Given the description of an element on the screen output the (x, y) to click on. 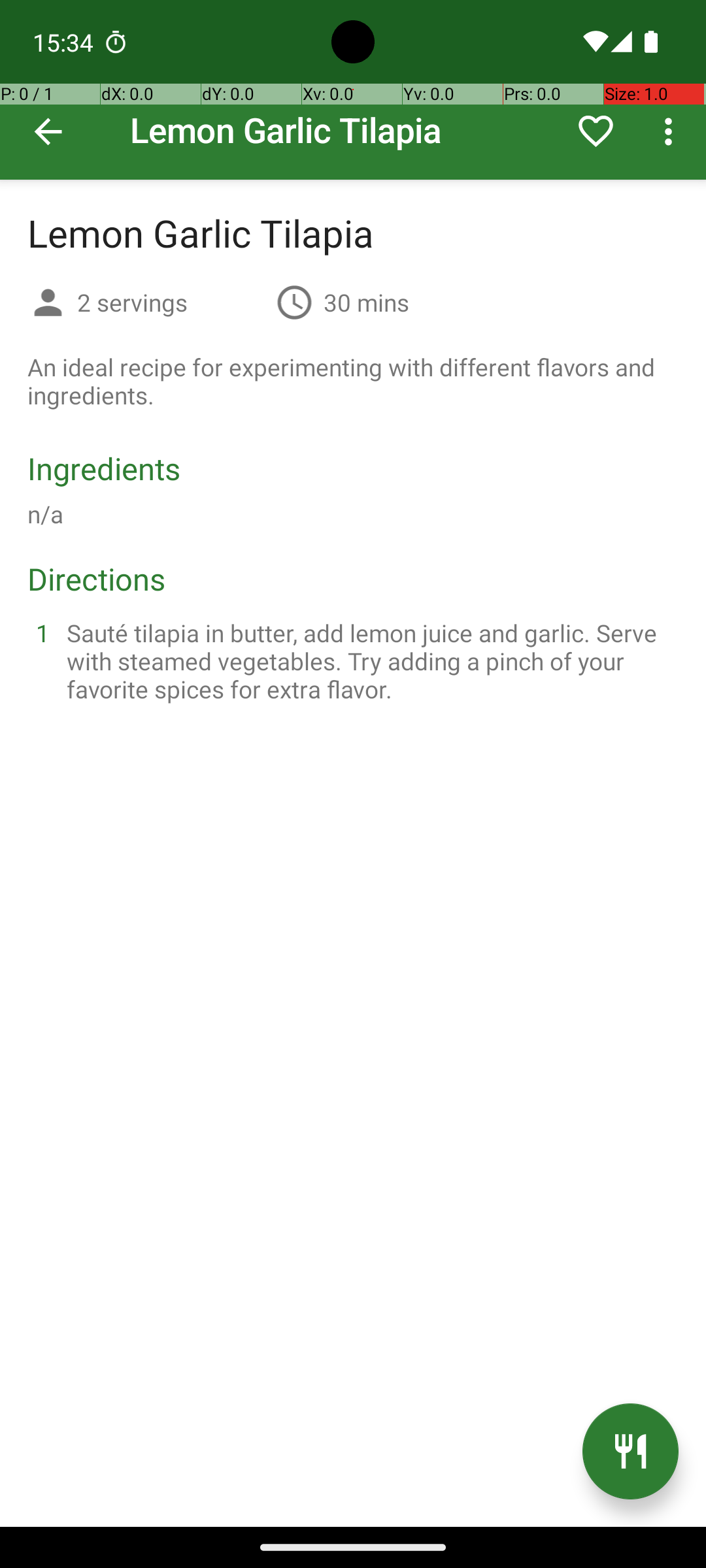
Sauté tilapia in butter, add lemon juice and garlic. Serve with steamed vegetables. Try adding a pinch of your favorite spices for extra flavor. Element type: android.widget.TextView (368, 660)
